Given the description of an element on the screen output the (x, y) to click on. 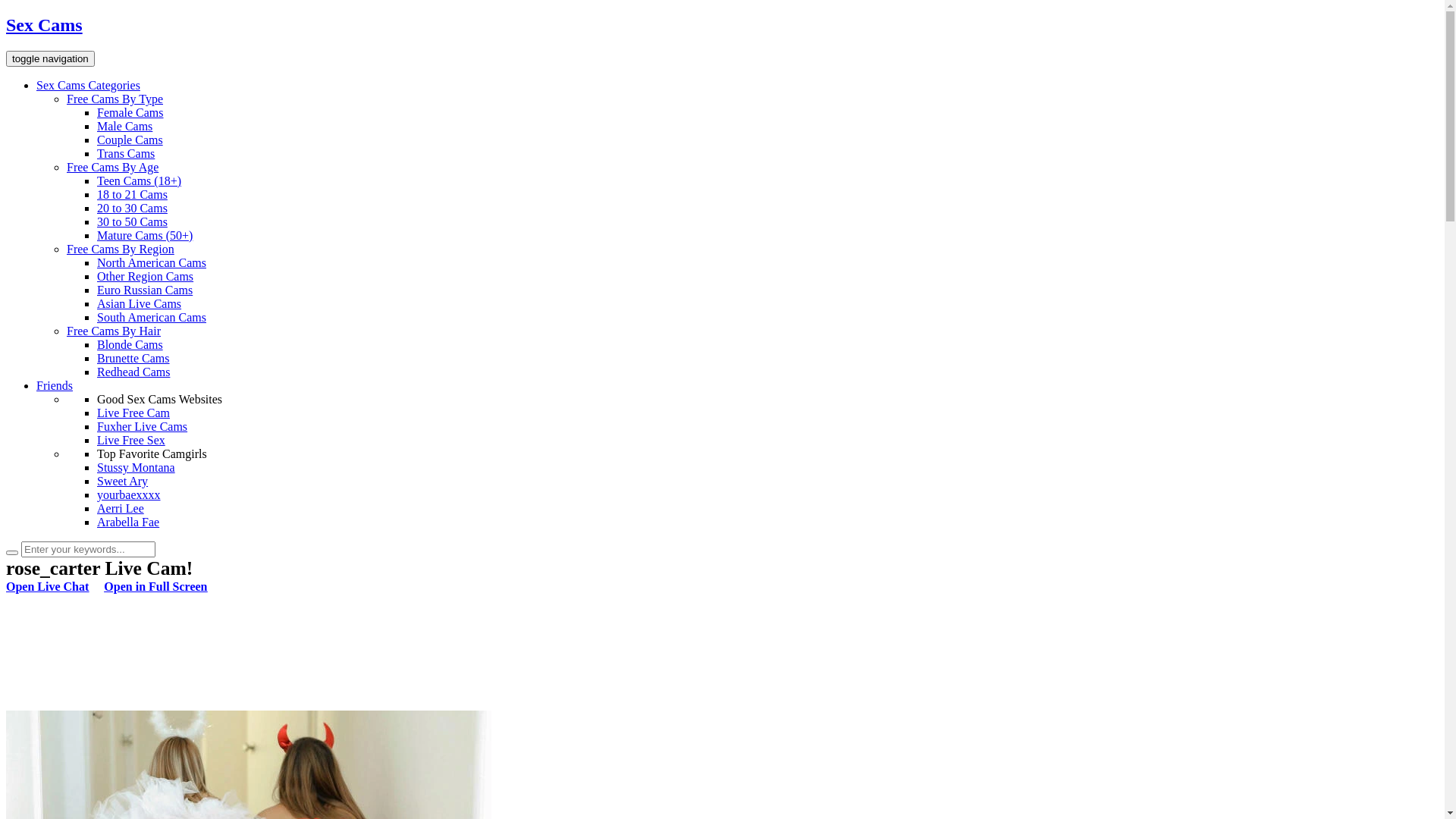
Arabella Fae Element type: text (128, 521)
Sweet Ary Element type: text (122, 480)
Free Cams By Type Element type: text (114, 98)
Free Cams By Age Element type: text (112, 166)
Fuxher Live Cams Element type: text (142, 426)
North American Cams Element type: text (151, 262)
Brunette Cams Element type: text (133, 357)
Other Region Cams Element type: text (145, 275)
Euro Russian Cams Element type: text (144, 289)
30 to 50 Cams Element type: text (132, 221)
Asian Live Cams Element type: text (139, 303)
Mature Cams (50+) Element type: text (144, 235)
Free Cams By Hair Element type: text (113, 330)
Teen Cams (18+) Element type: text (139, 180)
Male Cams Element type: text (124, 125)
toggle navigation Element type: text (50, 58)
Redhead Cams Element type: text (133, 371)
Blonde Cams Element type: text (130, 344)
Aerri Lee Element type: text (120, 508)
Live Free Sex Element type: text (131, 439)
18 to 21 Cams Element type: text (132, 194)
Sex Cams Categories Element type: text (88, 84)
Stussy Montana Element type: text (136, 467)
Sex Cams Element type: text (722, 25)
Live Free Cam Element type: text (133, 412)
Open in Full Screen Element type: text (155, 586)
Free Cams By Region Element type: text (120, 248)
yourbaexxxx Element type: text (128, 494)
Friends Element type: text (54, 385)
20 to 30 Cams Element type: text (132, 207)
Couple Cams Element type: text (130, 139)
Trans Cams Element type: text (125, 153)
South American Cams Element type: text (151, 316)
Female Cams Element type: text (130, 112)
Open Live Chat Element type: text (47, 586)
